Given the description of an element on the screen output the (x, y) to click on. 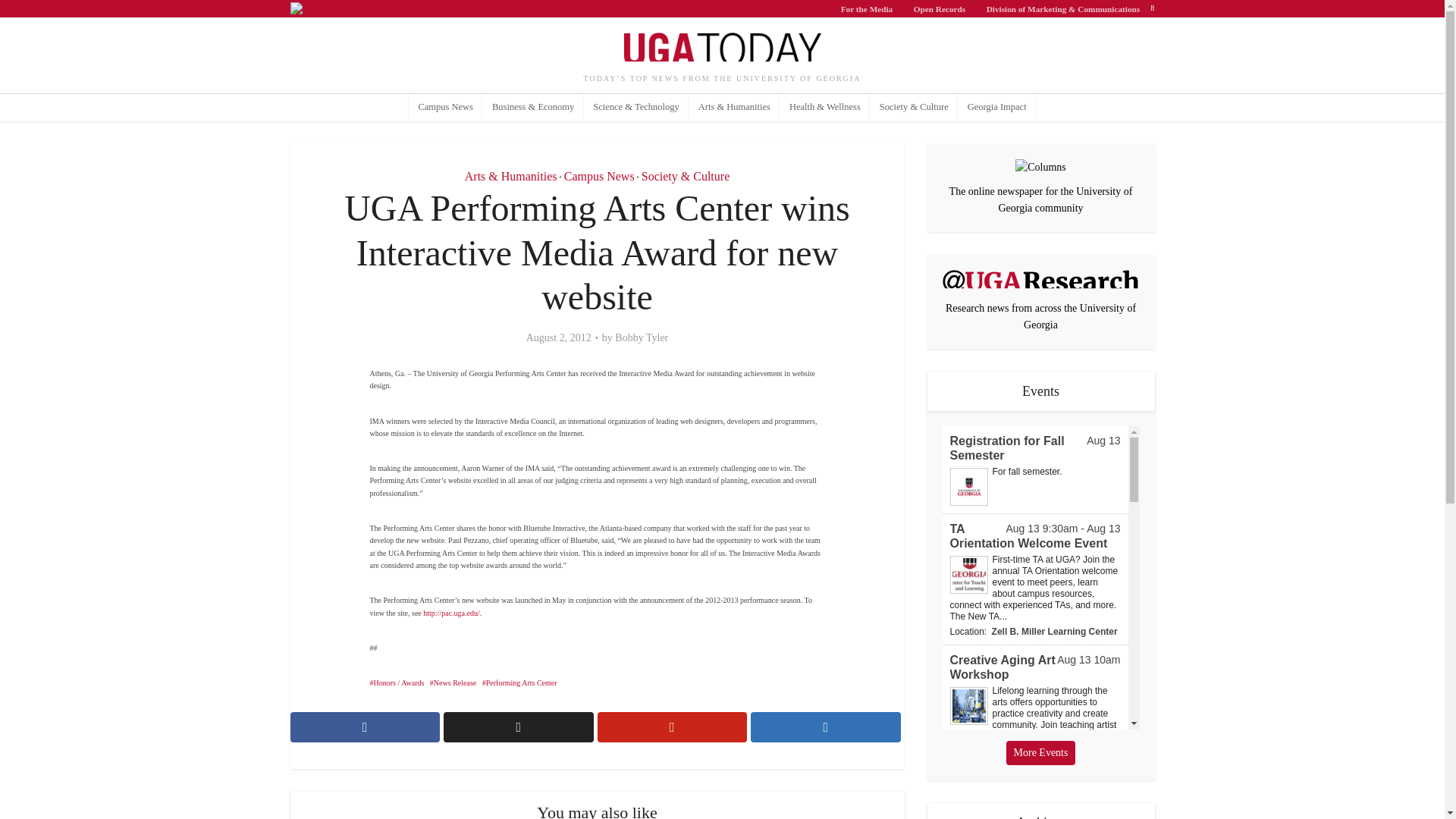
News Release (452, 682)
Open Records (939, 8)
Performing Arts Center (519, 682)
Georgia Impact (996, 107)
Campus News (446, 107)
Bobby Tyler (641, 337)
For the Media (866, 8)
Campus News (599, 175)
